Given the description of an element on the screen output the (x, y) to click on. 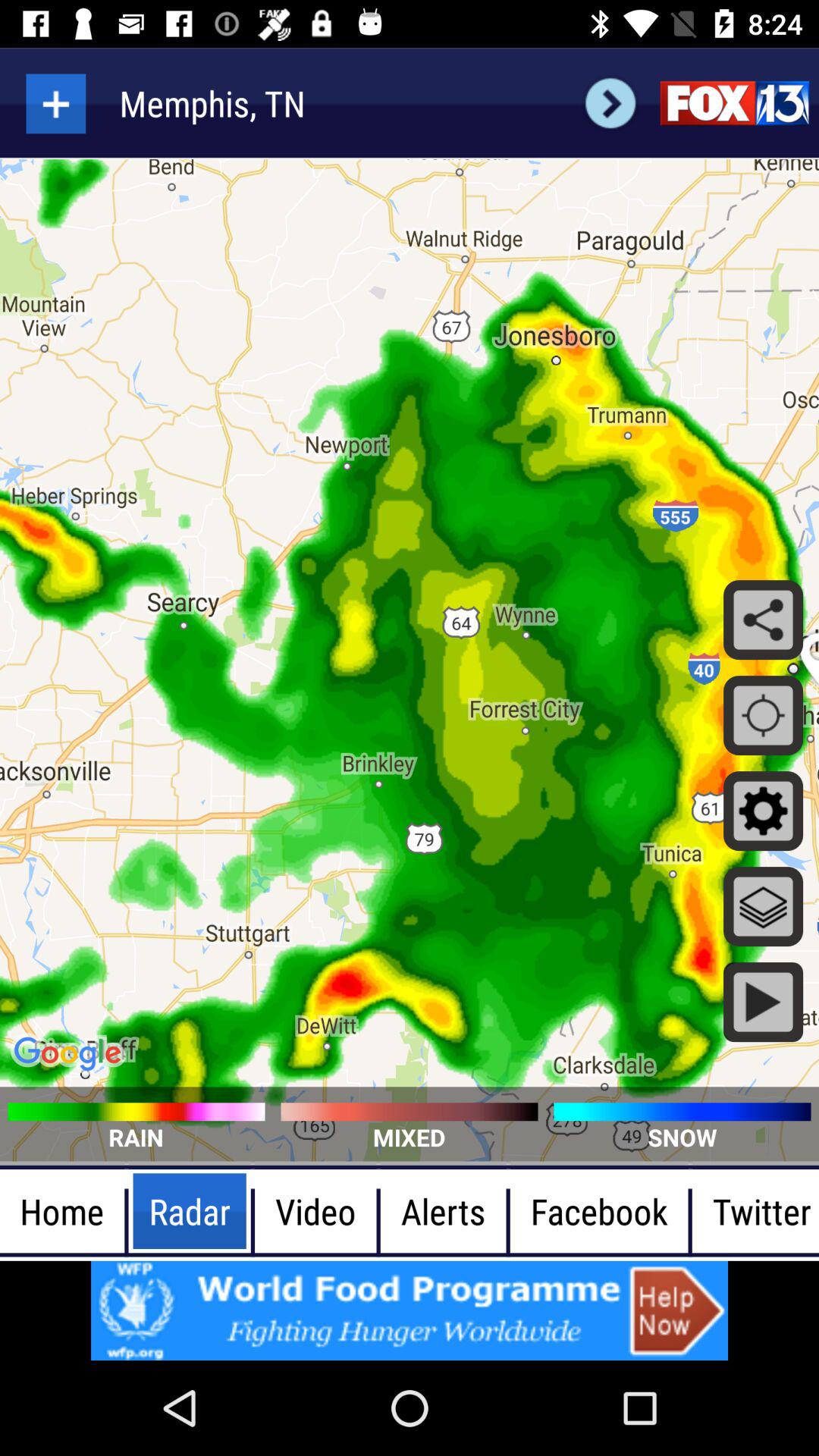
add acount (55, 103)
